Given the description of an element on the screen output the (x, y) to click on. 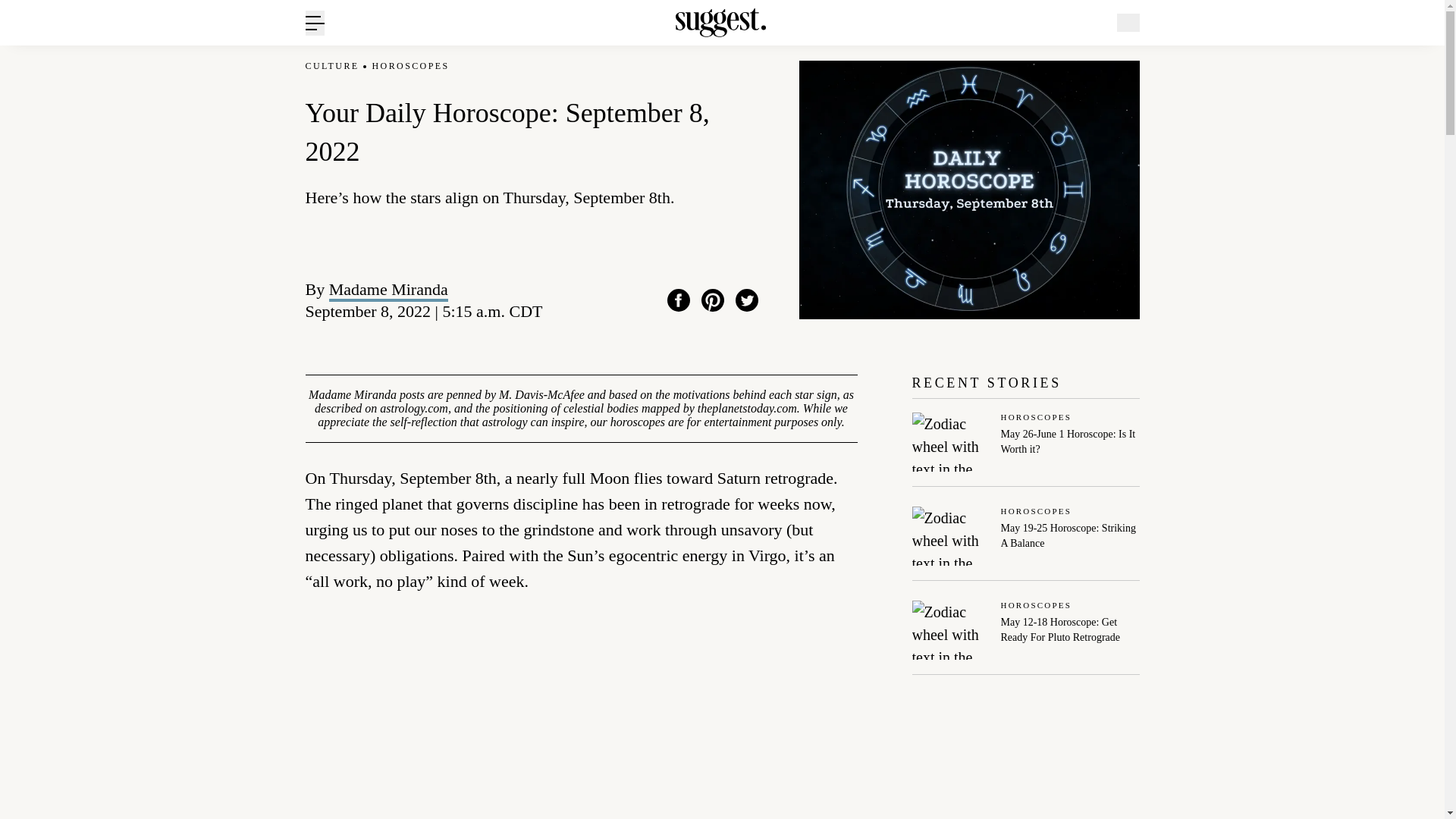
Search (1170, 95)
May 12-18 Horoscope: Get Ready For Pluto Retrograde (1070, 630)
Horoscopes (1070, 418)
Horoscopes (1024, 543)
Facebook (1070, 511)
Madame Miranda (678, 300)
May 26-June 1 Horoscope: Is It Worth it? (388, 289)
CULTURE (1070, 441)
HOROSCOPES (331, 66)
Horoscopes (410, 66)
Pinterest (1070, 605)
